Given the description of an element on the screen output the (x, y) to click on. 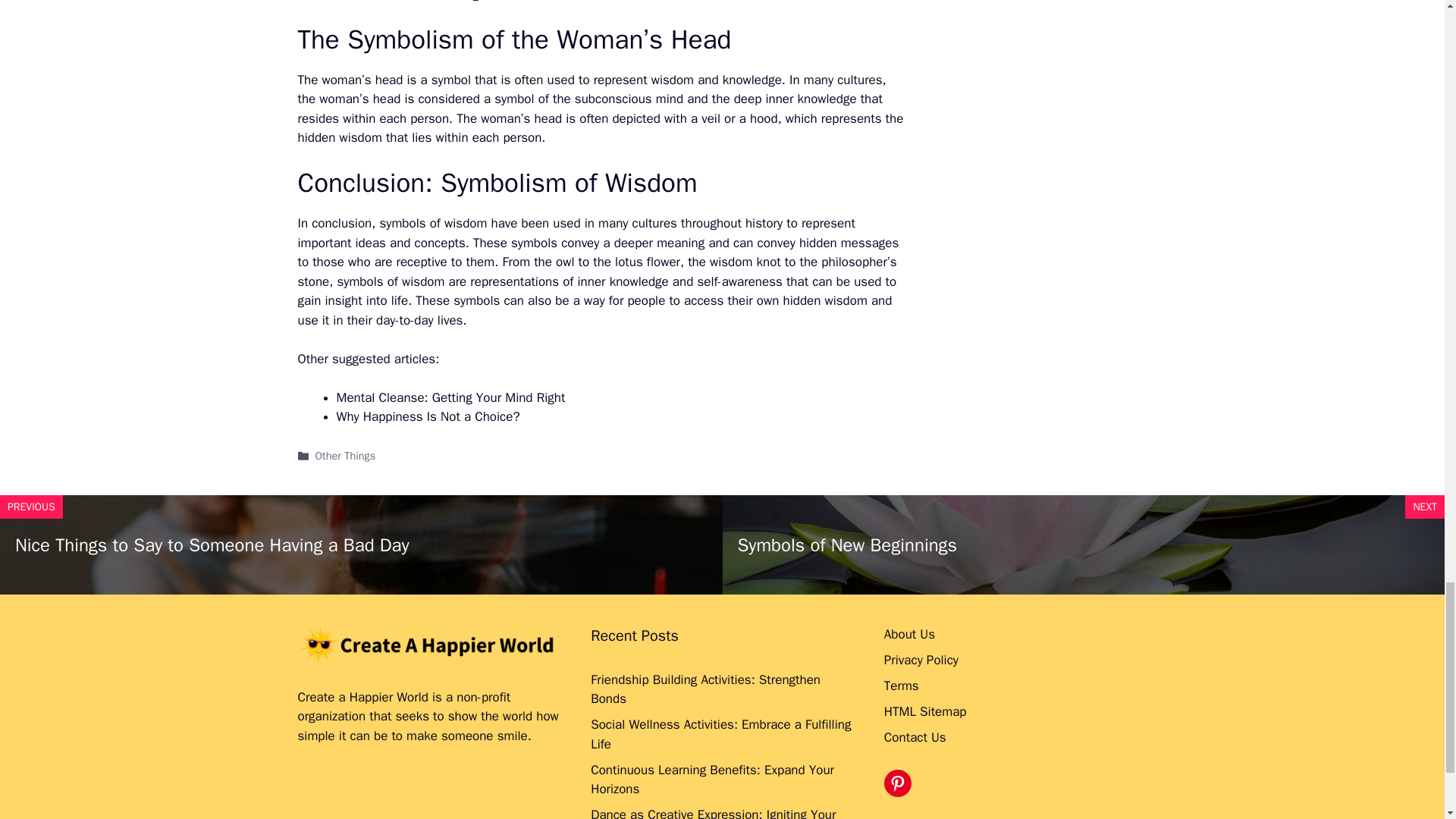
Privacy Policy (920, 659)
Social Wellness Activities: Embrace a Fulfilling Life (720, 734)
Mental Cleanse: Getting Your Mind Right (451, 397)
Dance as Creative Expression: Igniting Your Imagination (713, 812)
Why Happiness Is Not a Choice? (427, 416)
Friendship Building Activities: Strengthen Bonds (706, 689)
Other Things (345, 455)
Continuous Learning Benefits: Expand Your Horizons (712, 779)
Nice Things to Say to Someone Having a Bad Day (211, 544)
Pinterest (897, 782)
Symbols of New Beginnings (846, 544)
Contact Us (914, 737)
Terms (900, 685)
HTML Sitemap (924, 711)
About Us (908, 634)
